Given the description of an element on the screen output the (x, y) to click on. 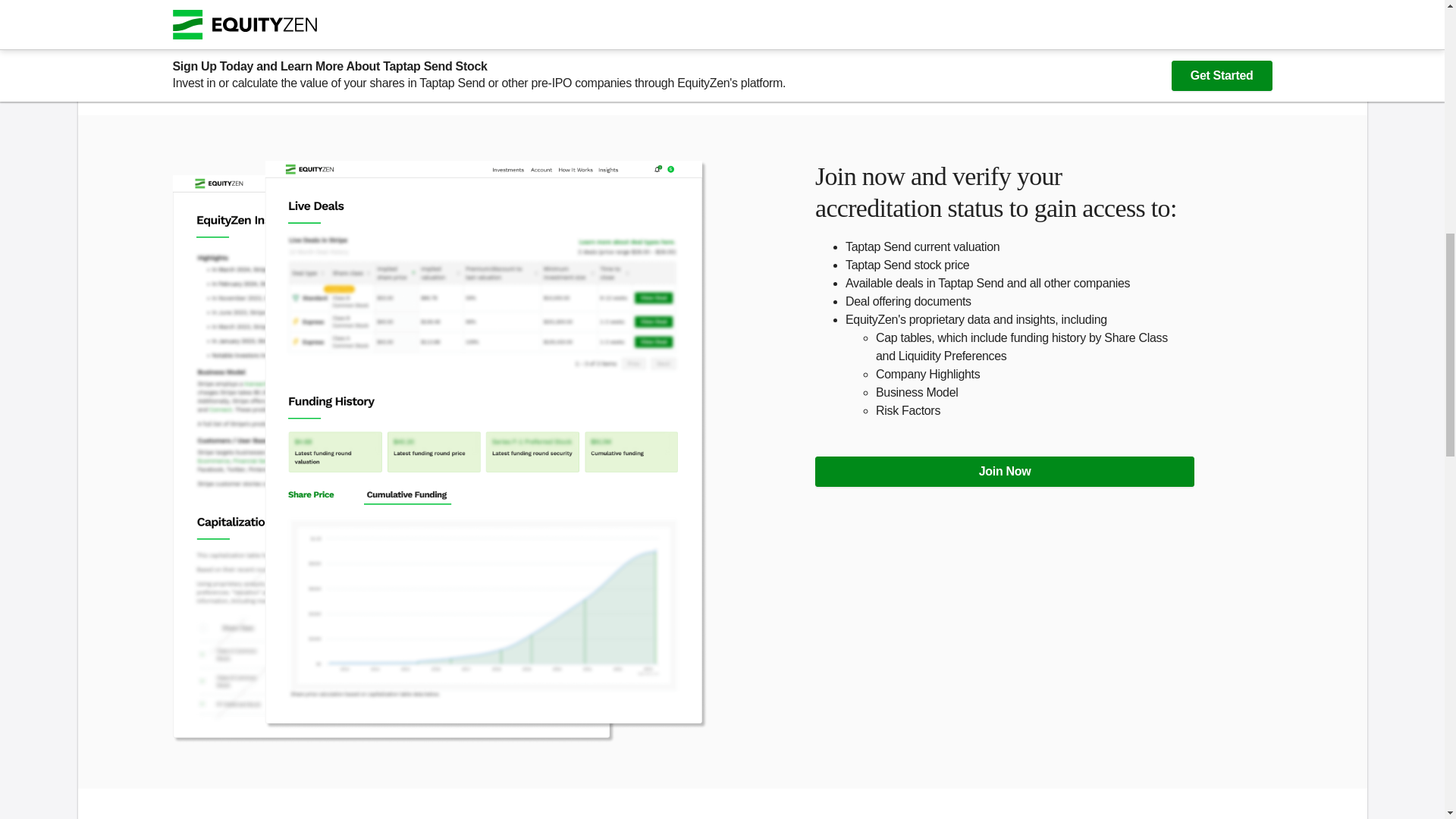
Join Now (1004, 471)
